Given the description of an element on the screen output the (x, y) to click on. 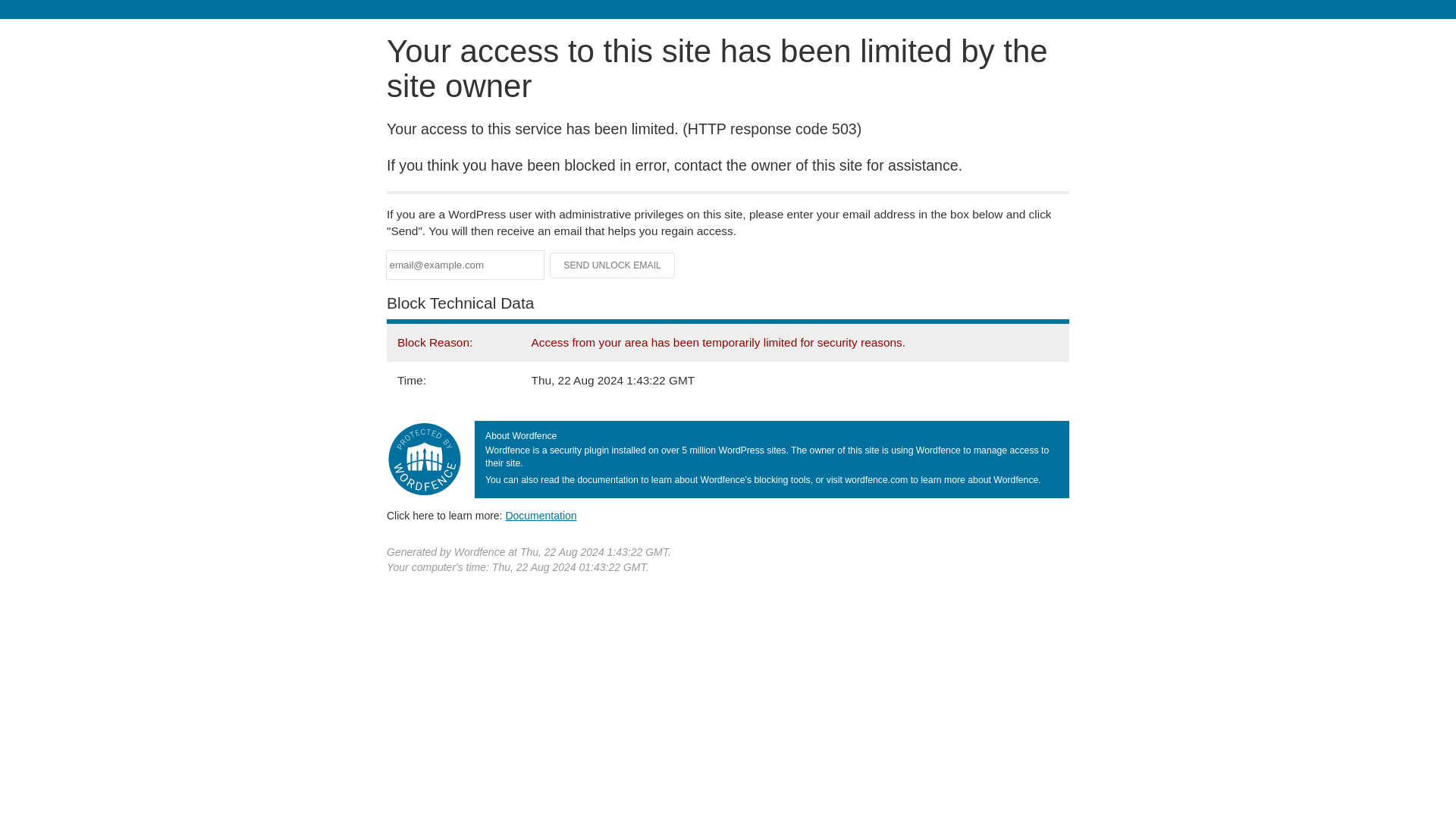
Send Unlock Email (612, 265)
Send Unlock Email (612, 265)
Documentation (540, 515)
